Given the description of an element on the screen output the (x, y) to click on. 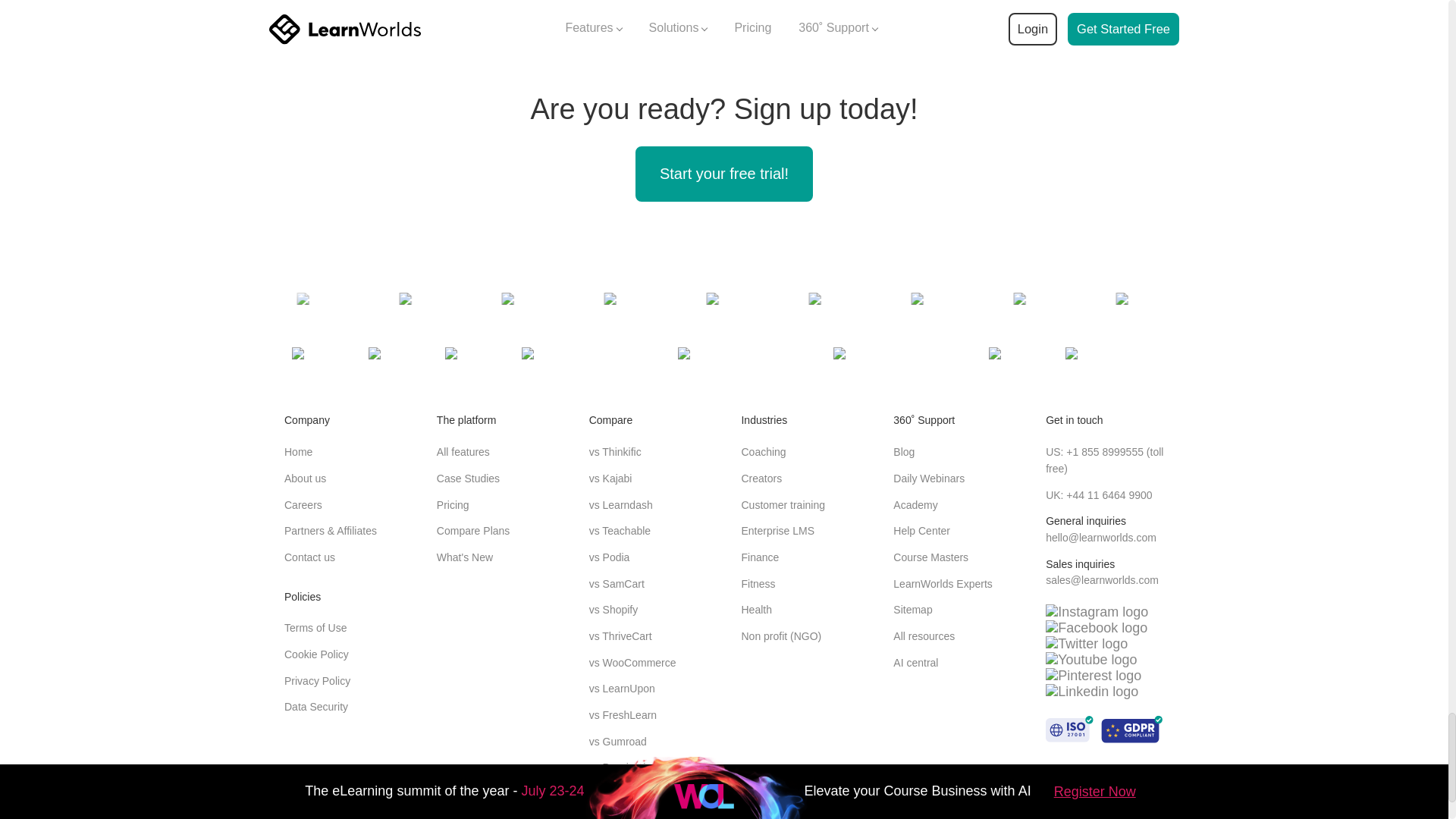
send email to LearnWorlds (1101, 580)
send email to LearnWorlds (1100, 537)
